Given the description of an element on the screen output the (x, y) to click on. 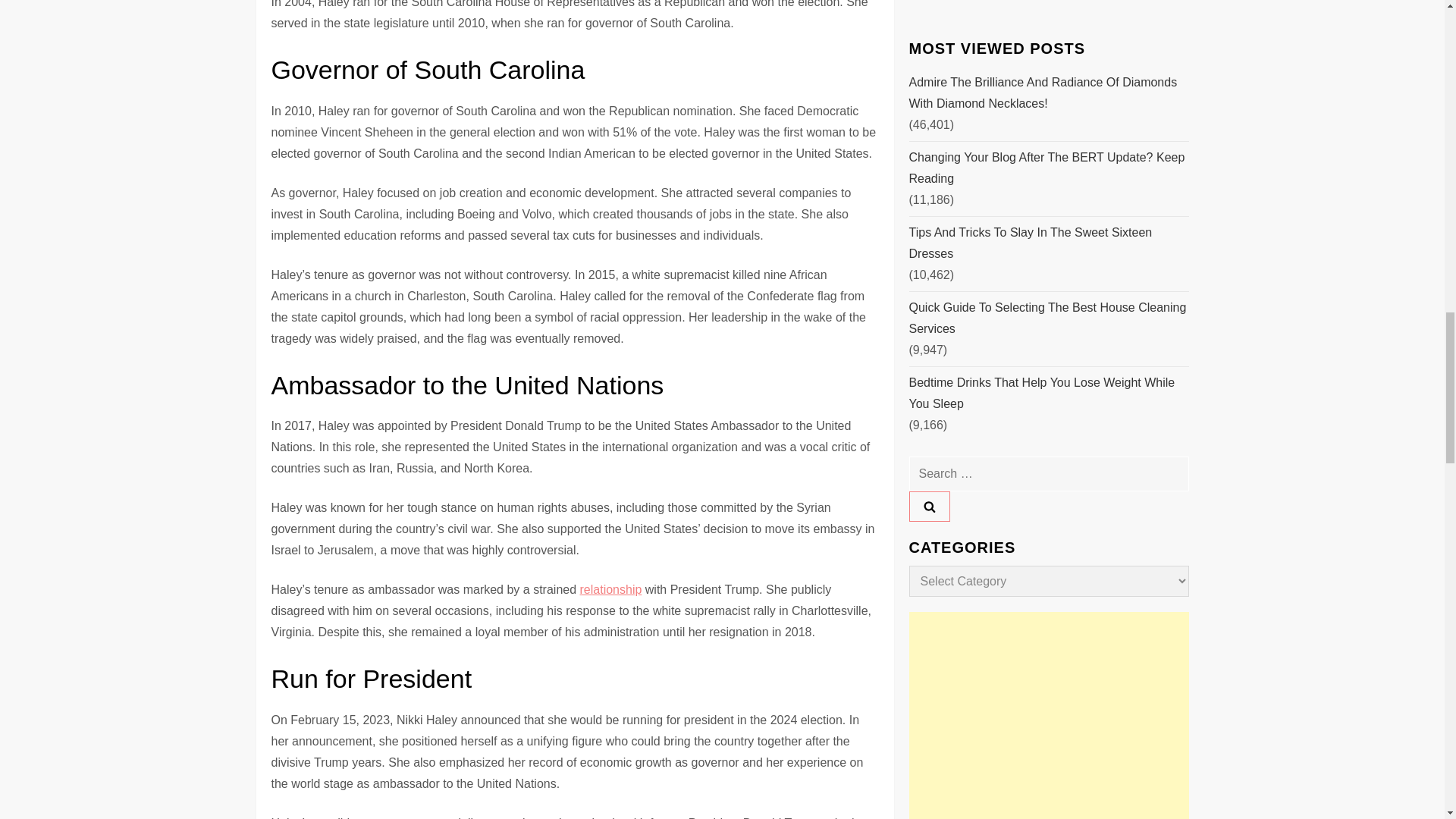
relationship (610, 589)
